Given the description of an element on the screen output the (x, y) to click on. 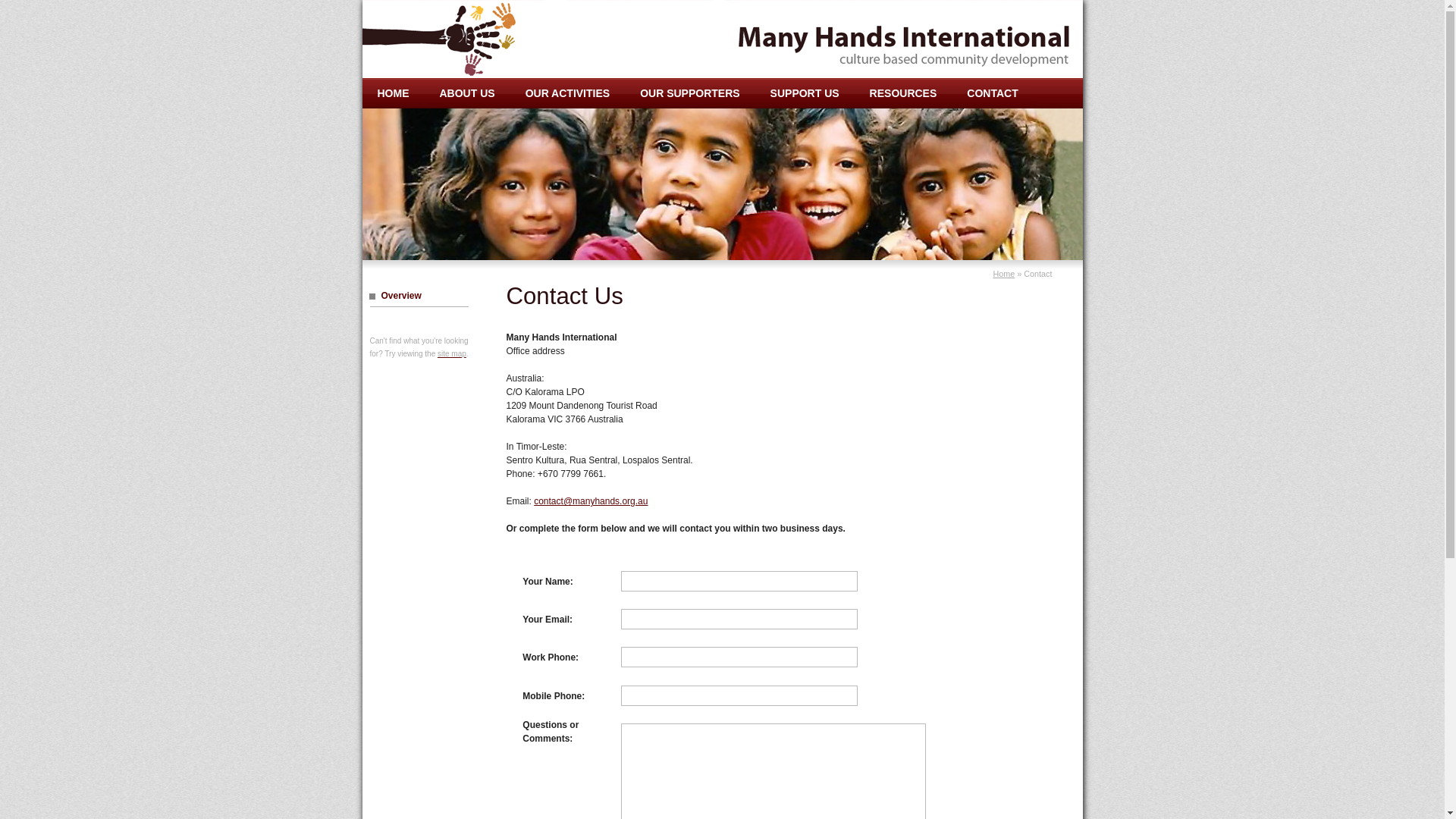
contact@manyhands.org.au Element type: text (590, 500)
Overview Element type: text (419, 295)
Home Element type: text (1003, 273)
site map Element type: text (451, 352)
Many Hands International Element type: text (457, 39)
